Given the description of an element on the screen output the (x, y) to click on. 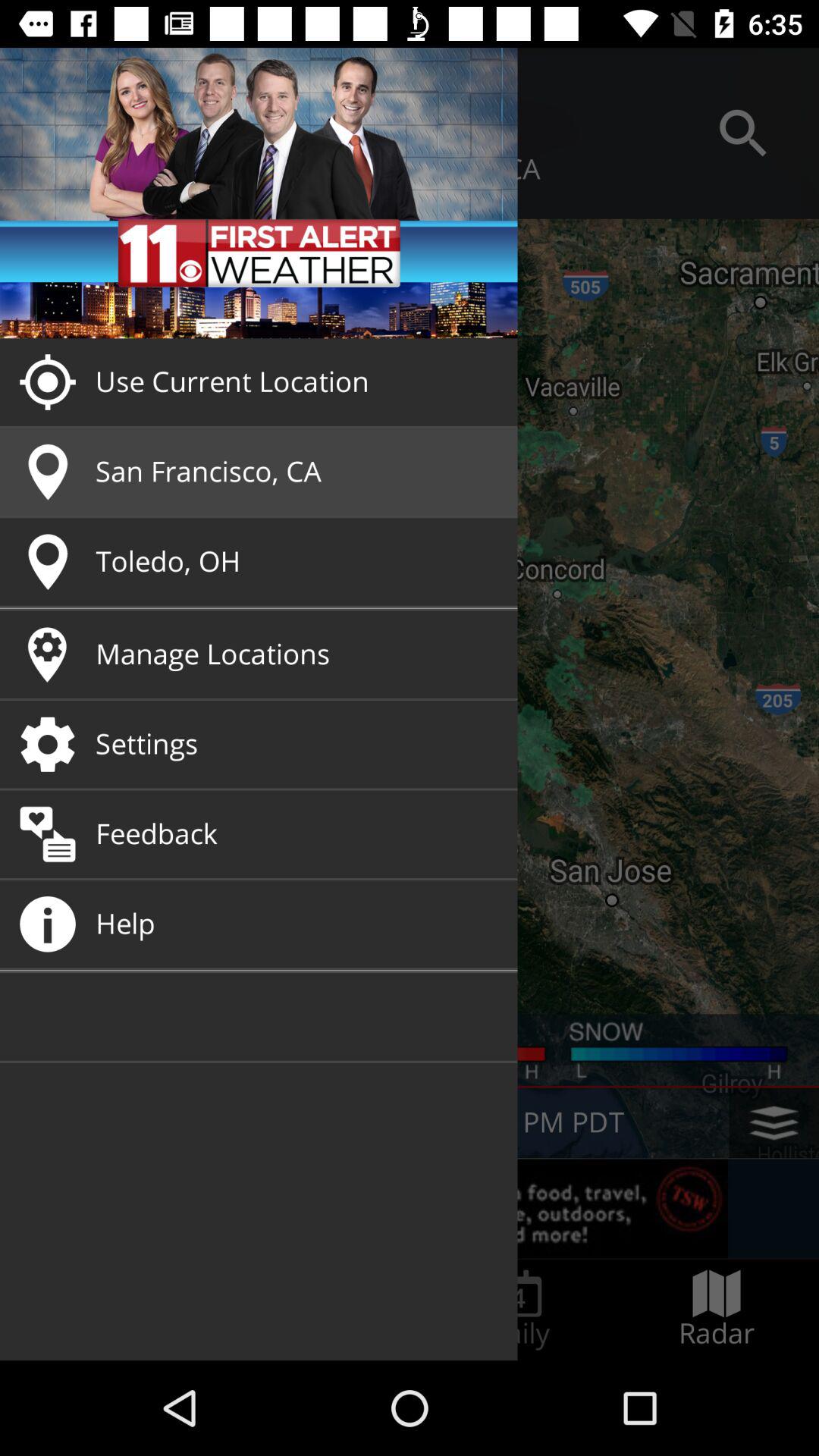
click on the search button at top right (743, 133)
select the icon at bottom right side of pm pdt (774, 1122)
